Given the description of an element on the screen output the (x, y) to click on. 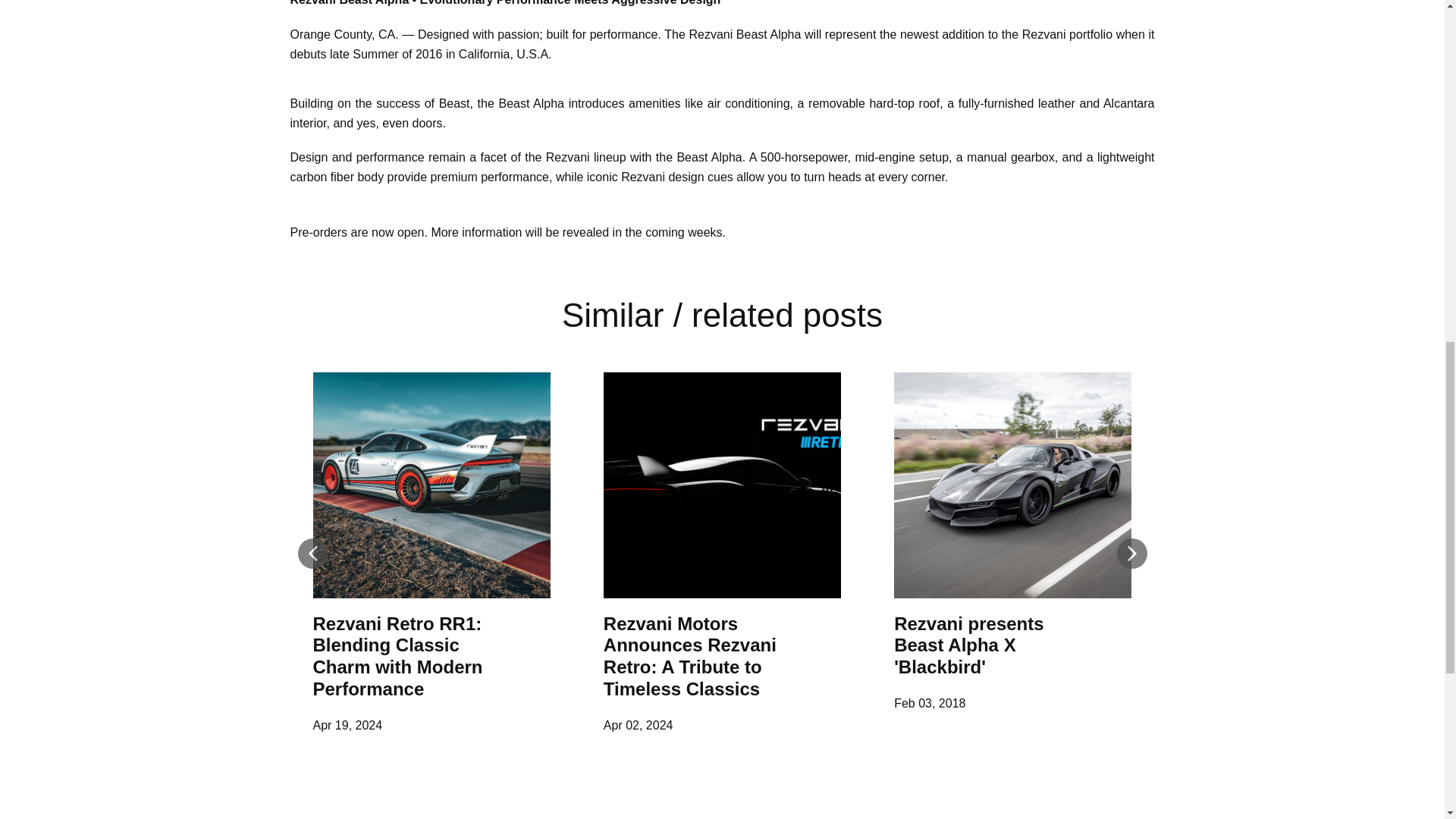
Rezvani presents Beast Alpha X 'Blackbird' (968, 645)
